Given the description of an element on the screen output the (x, y) to click on. 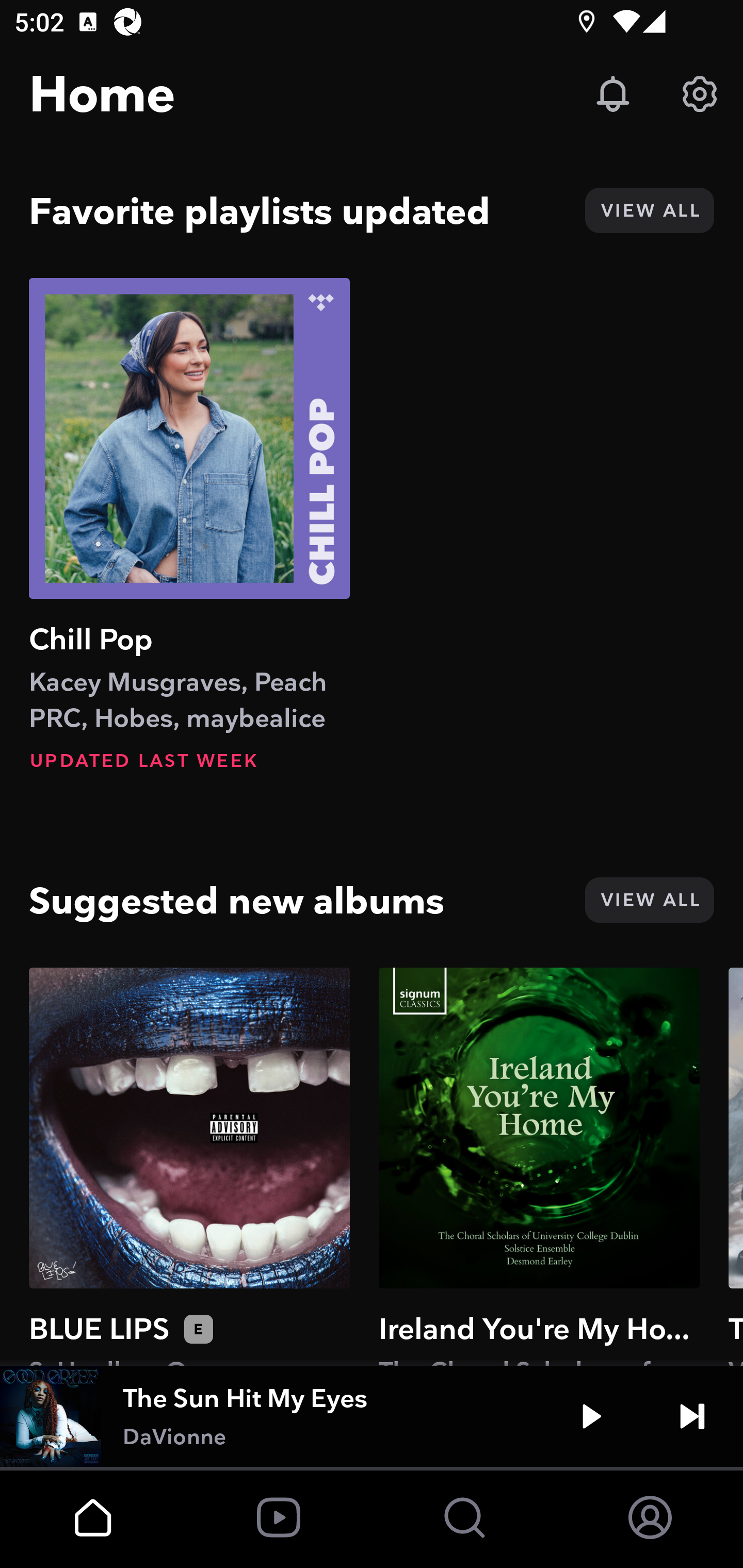
Updates (612, 93)
Settings (699, 93)
VIEW ALL (649, 210)
VIEW ALL (649, 899)
BLUE LIPS ScHoolboy Q (188, 1166)
The Sun Hit My Eyes DaVionne Play (371, 1416)
Play (590, 1416)
